Given the description of an element on the screen output the (x, y) to click on. 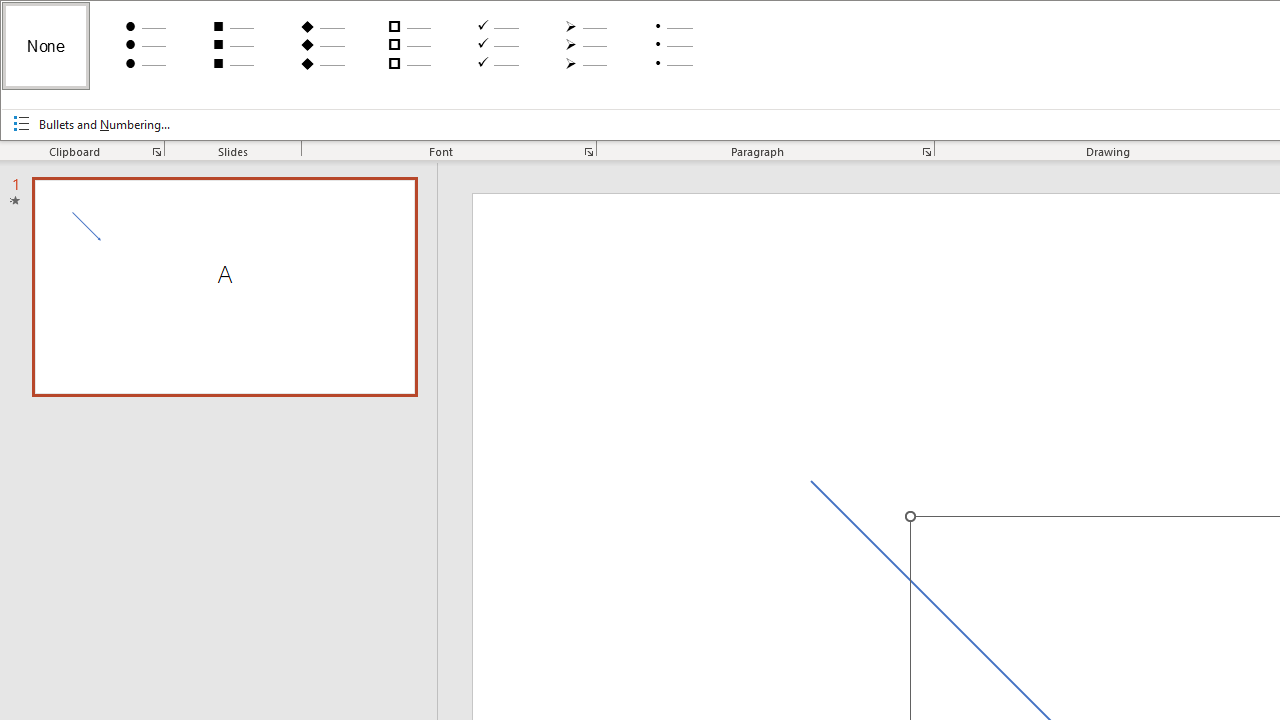
Slide A (224, 286)
